Given the description of an element on the screen output the (x, y) to click on. 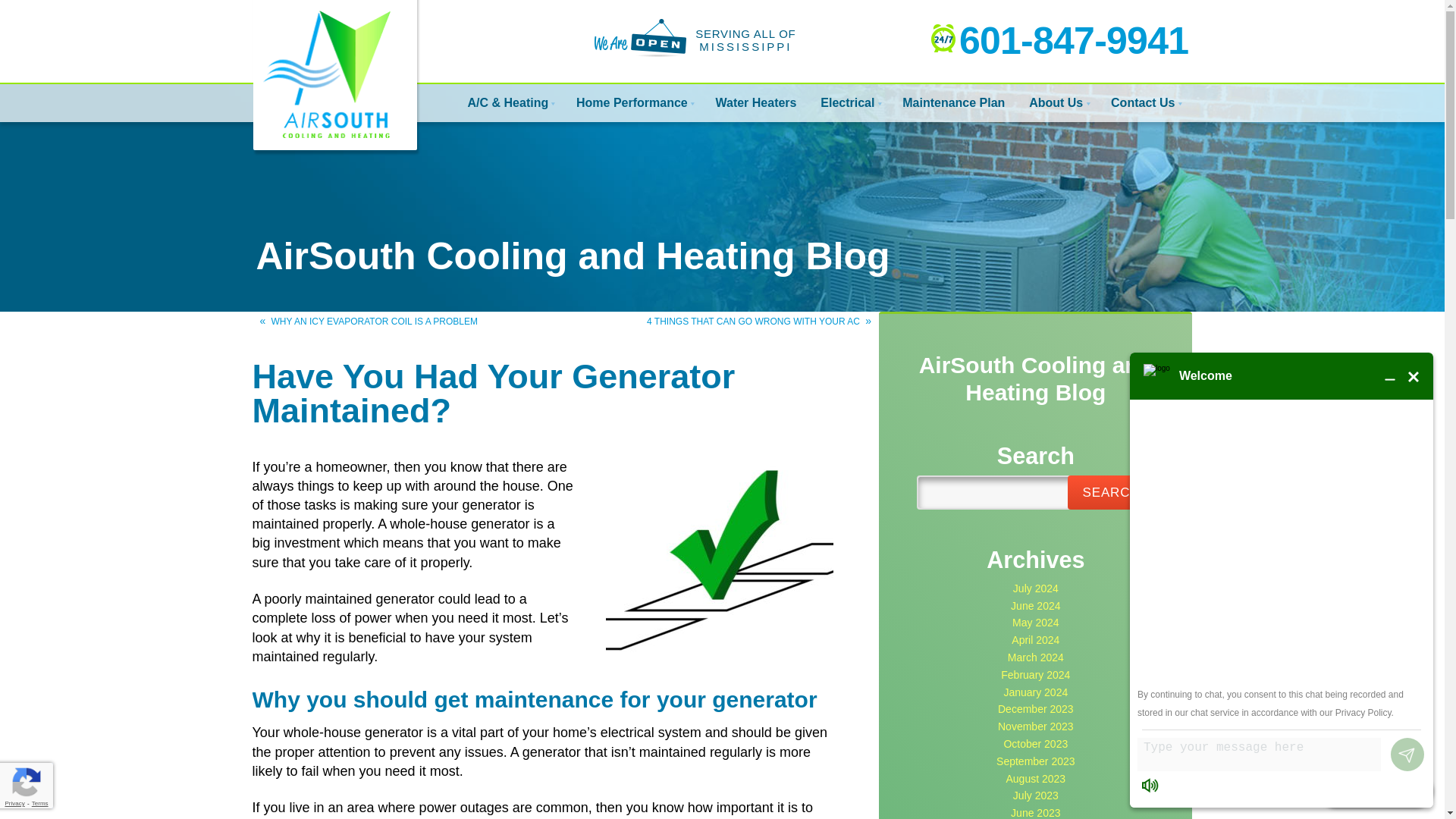
Home Performance (633, 100)
Water Heaters (755, 100)
Electrical (848, 100)
601-847-9941 (1059, 40)
